Given the description of an element on the screen output the (x, y) to click on. 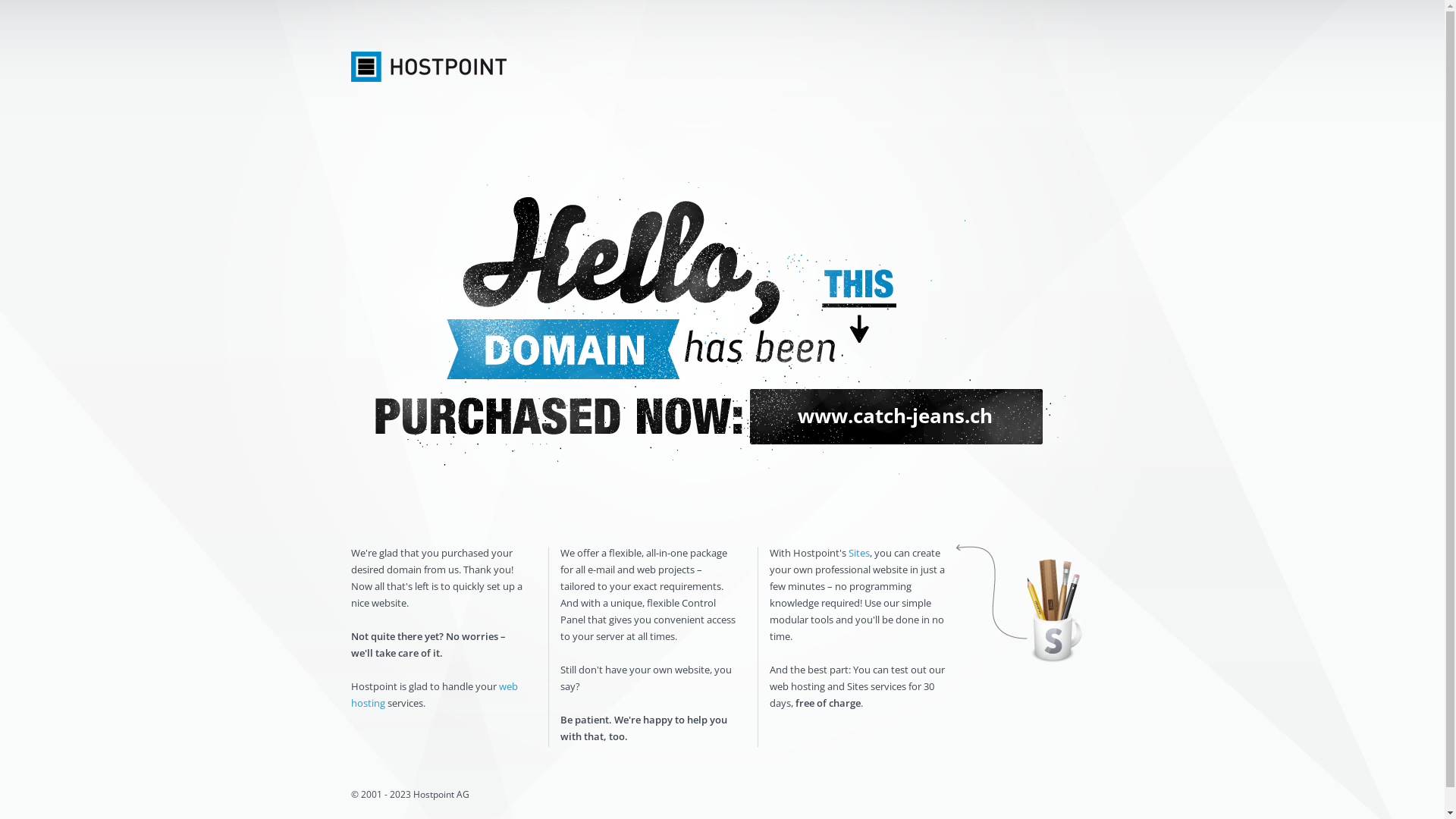
Sites Element type: text (858, 552)
web hosting Element type: text (433, 694)
